Given the description of an element on the screen output the (x, y) to click on. 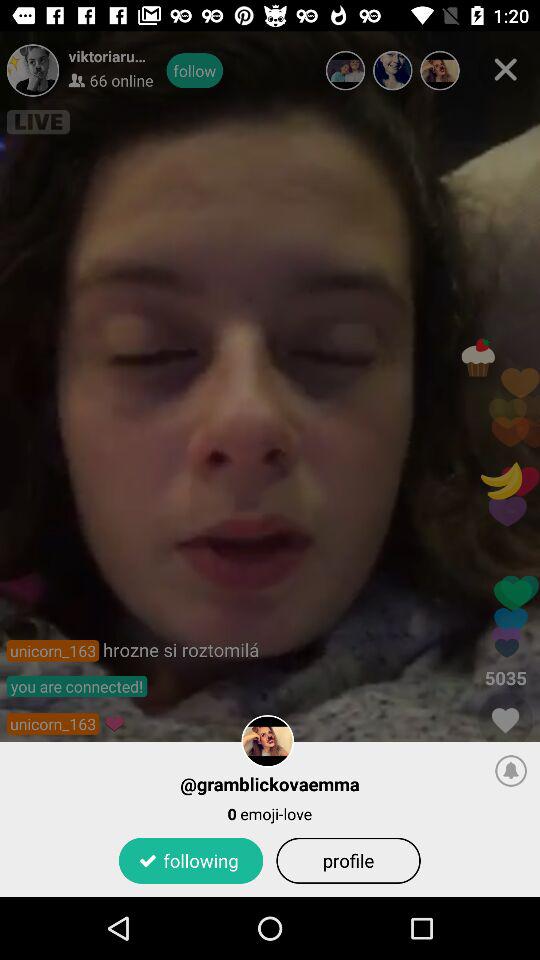
press app to the right of @gramblickovaemma app (511, 770)
